Given the description of an element on the screen output the (x, y) to click on. 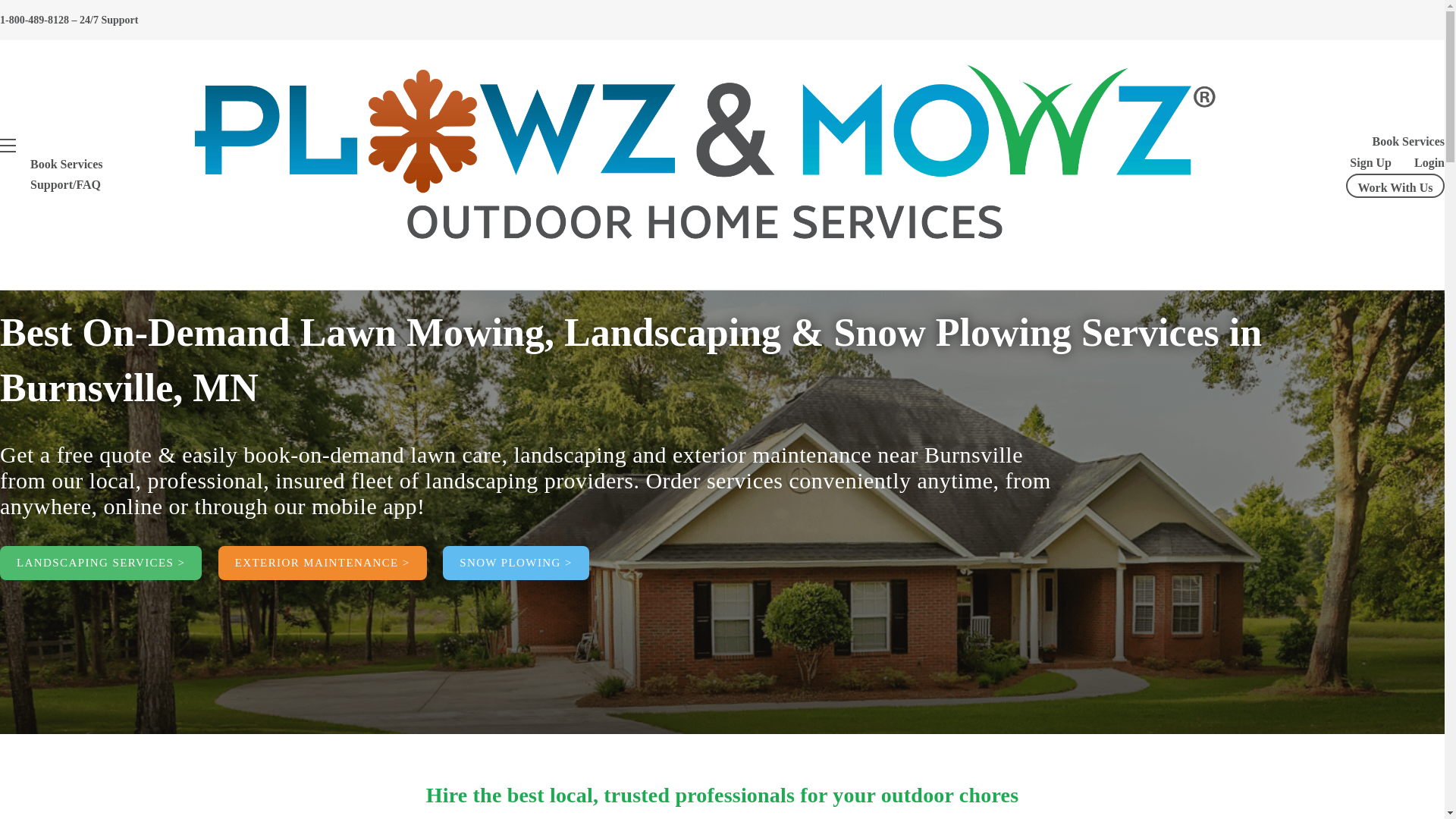
Book Services (66, 164)
